Given the description of an element on the screen output the (x, y) to click on. 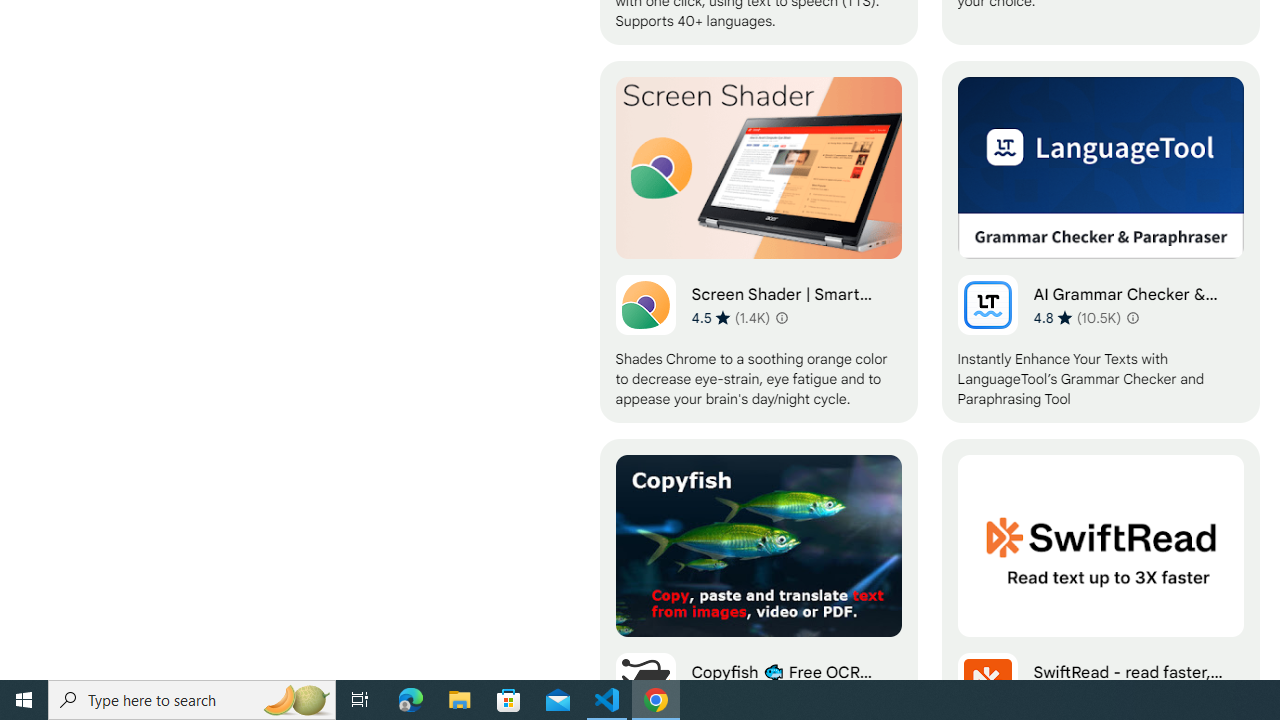
Screen Shader | Smart Screen Tinting (758, 242)
Average rating 4.8 out of 5 stars. 10.5K ratings. (1077, 317)
Average rating 4.5 out of 5 stars. 1.4K ratings. (730, 317)
